Given the description of an element on the screen output the (x, y) to click on. 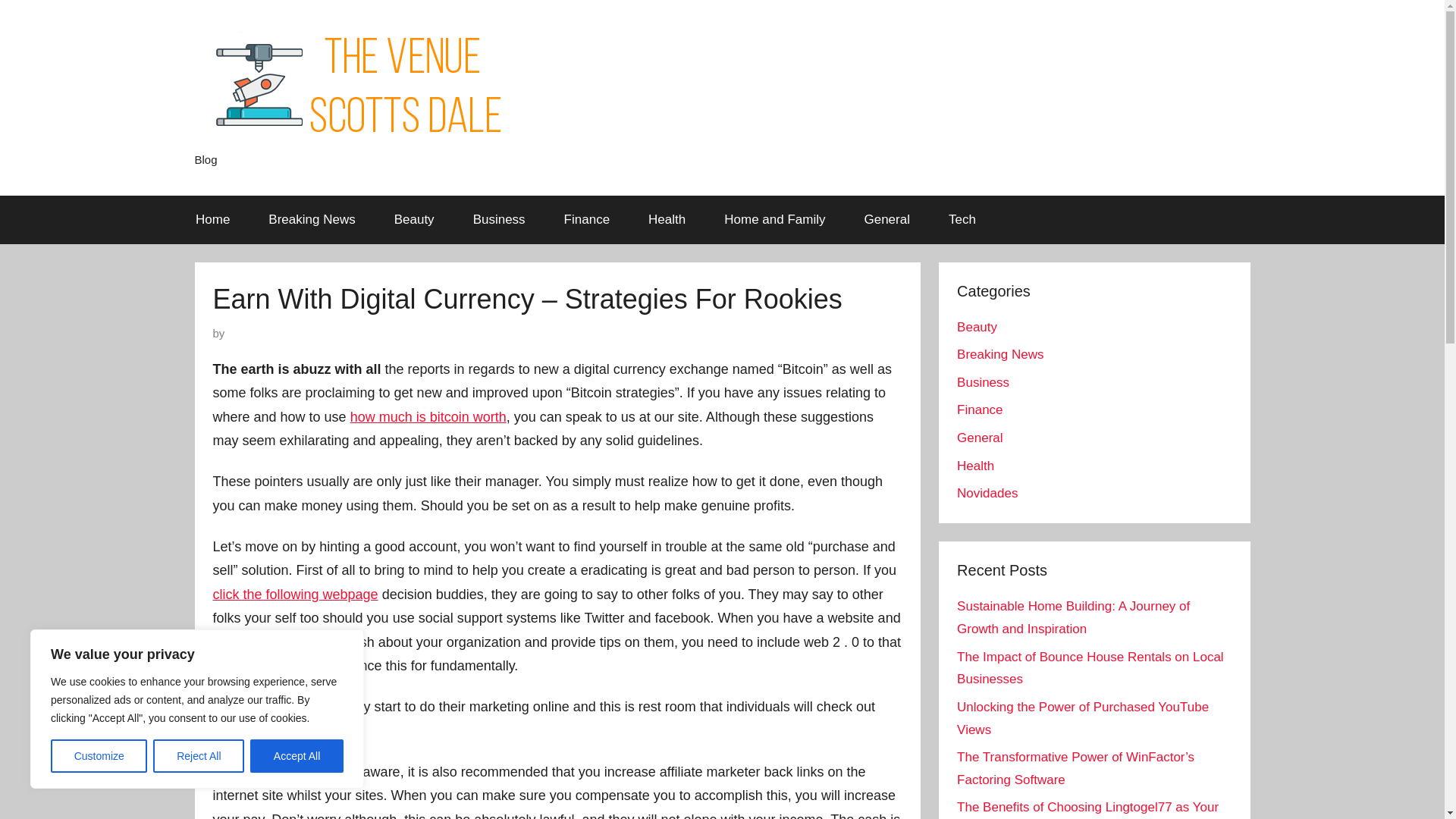
Breaking News (311, 219)
Business (982, 382)
Beauty (413, 219)
Reject All (198, 756)
how much is bitcoin worth (428, 417)
Finance (586, 219)
Finance (979, 409)
Customize (98, 756)
General (886, 219)
Tech (961, 219)
